Given the description of an element on the screen output the (x, y) to click on. 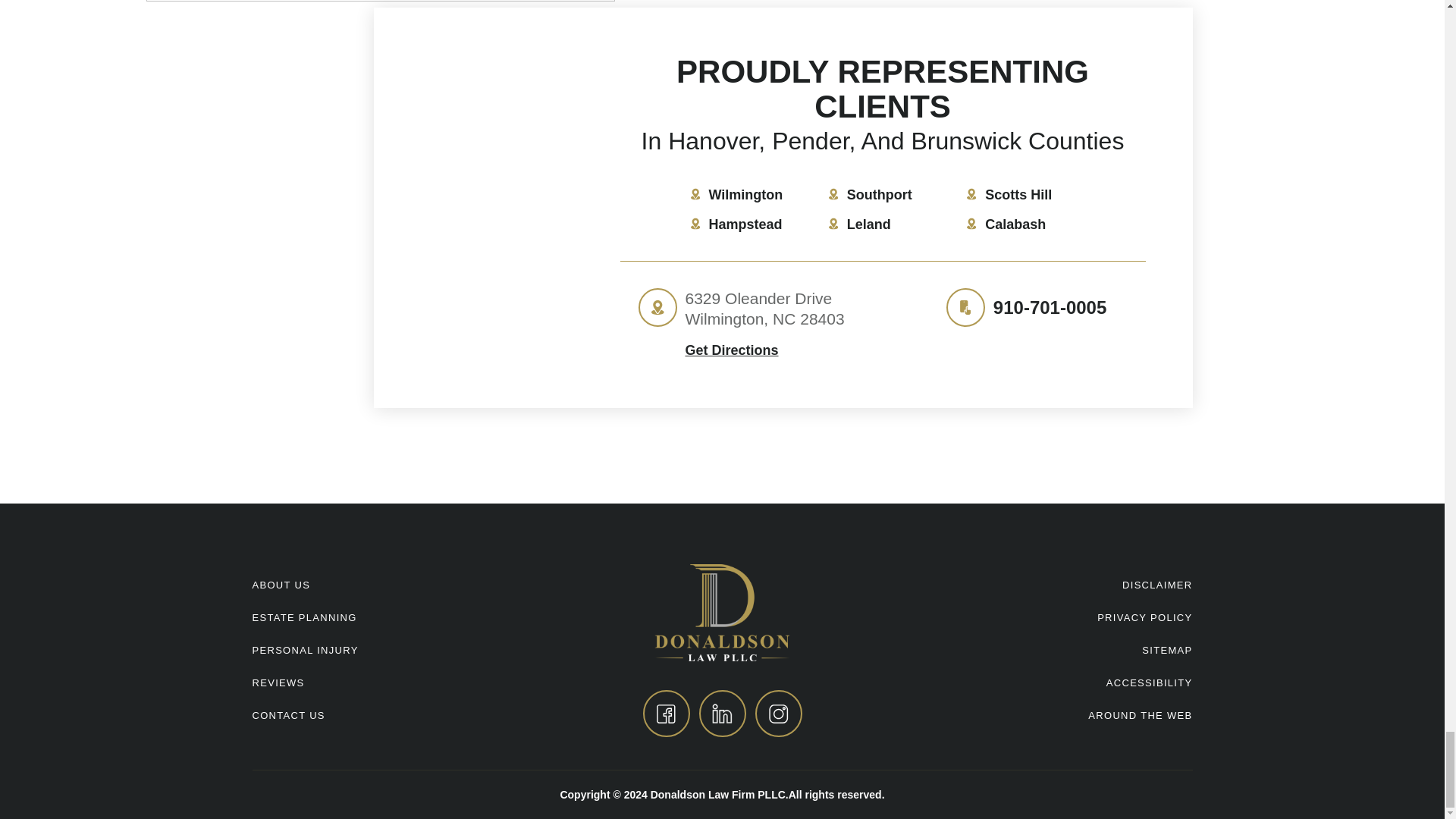
Donaldson Law Firm PLLC (721, 611)
